Given the description of an element on the screen output the (x, y) to click on. 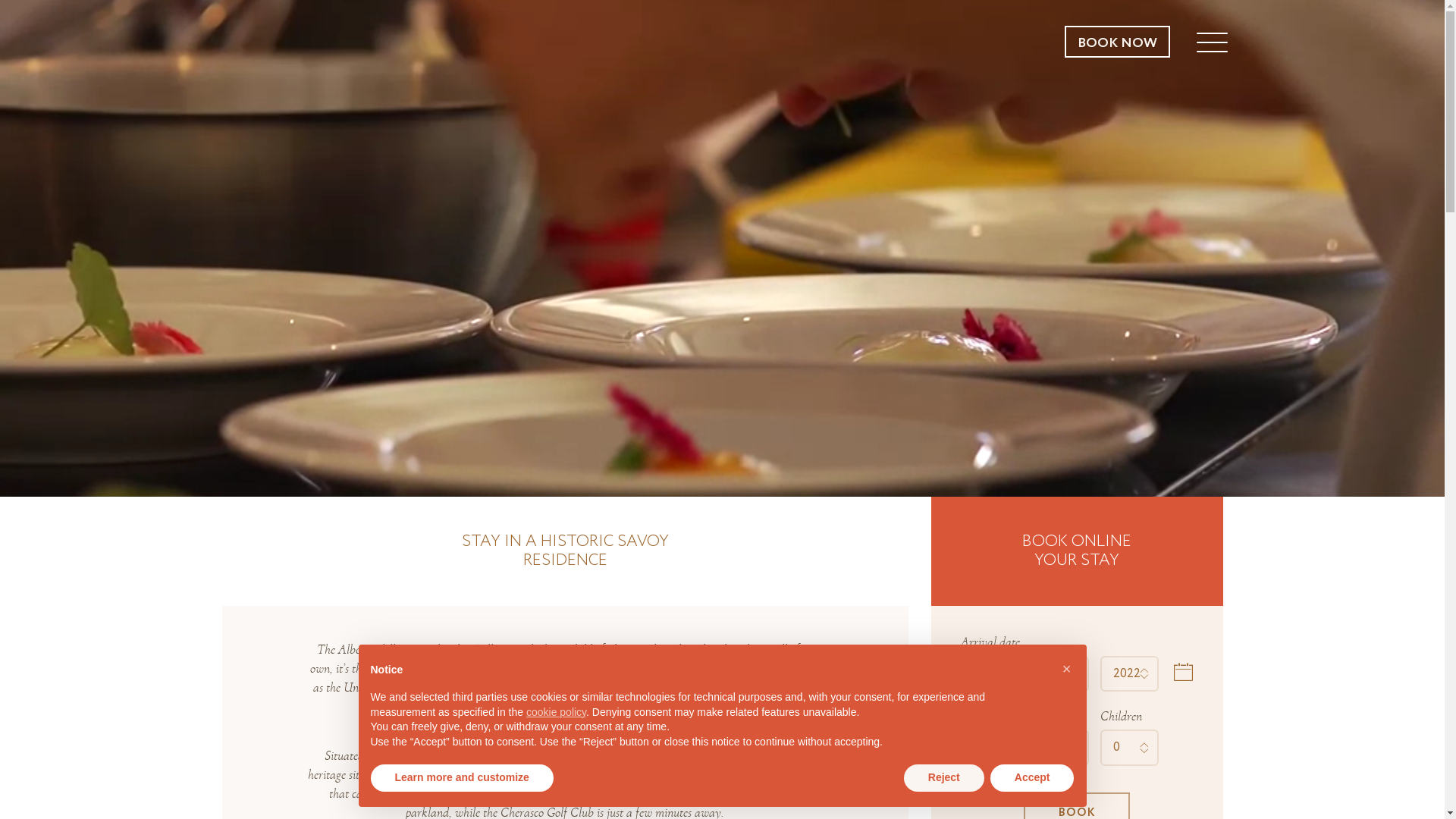
Reject Element type: text (943, 777)
0
  Element type: text (1129, 747)
1
  Element type: text (989, 747)
1
  Element type: text (1059, 747)
Accept Element type: text (1032, 777)
25
  Element type: text (989, 673)
Learn more and customize Element type: text (461, 777)
2022
  Element type: text (1129, 673)
cookie policy Element type: text (556, 712)
11
  Element type: text (1059, 673)
BOOK NOW Element type: text (1117, 41)
